Given the description of an element on the screen output the (x, y) to click on. 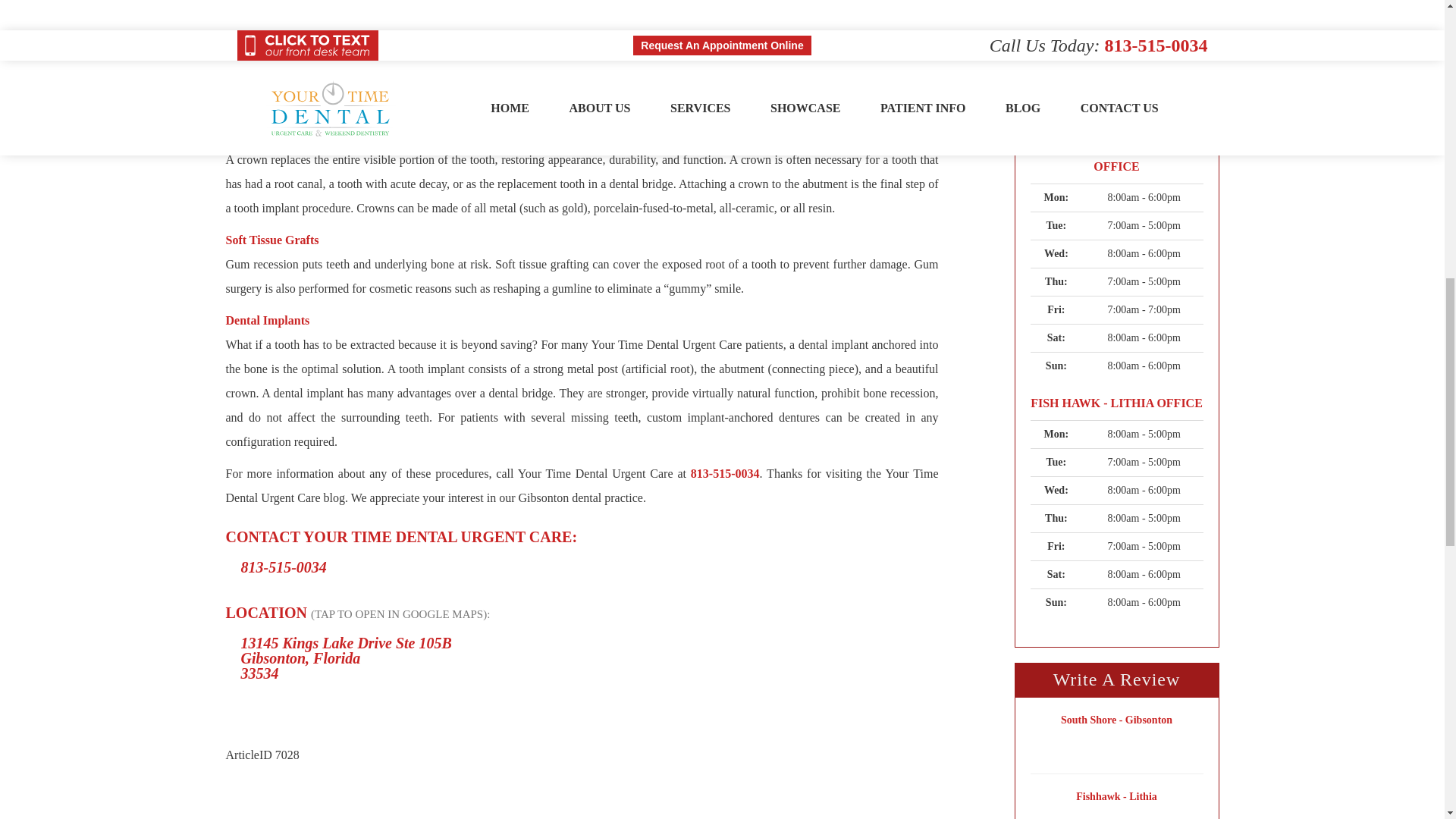
813-515-0034 (283, 566)
813-515-0034 (582, 485)
813-515-0034 (1127, 44)
